Given the description of an element on the screen output the (x, y) to click on. 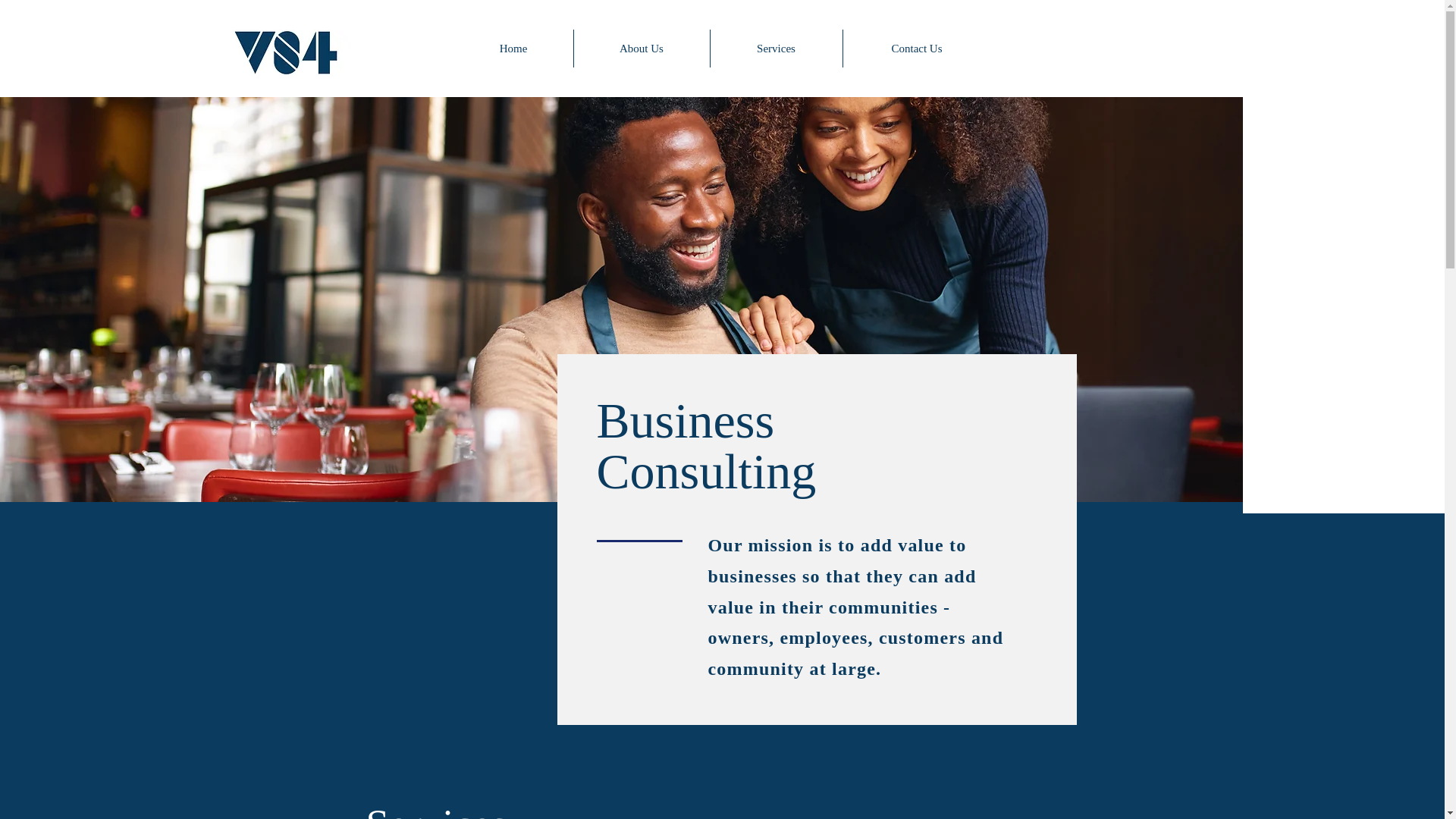
Services (775, 48)
About Us (641, 48)
Home (512, 48)
Contact Us (917, 48)
